Given the description of an element on the screen output the (x, y) to click on. 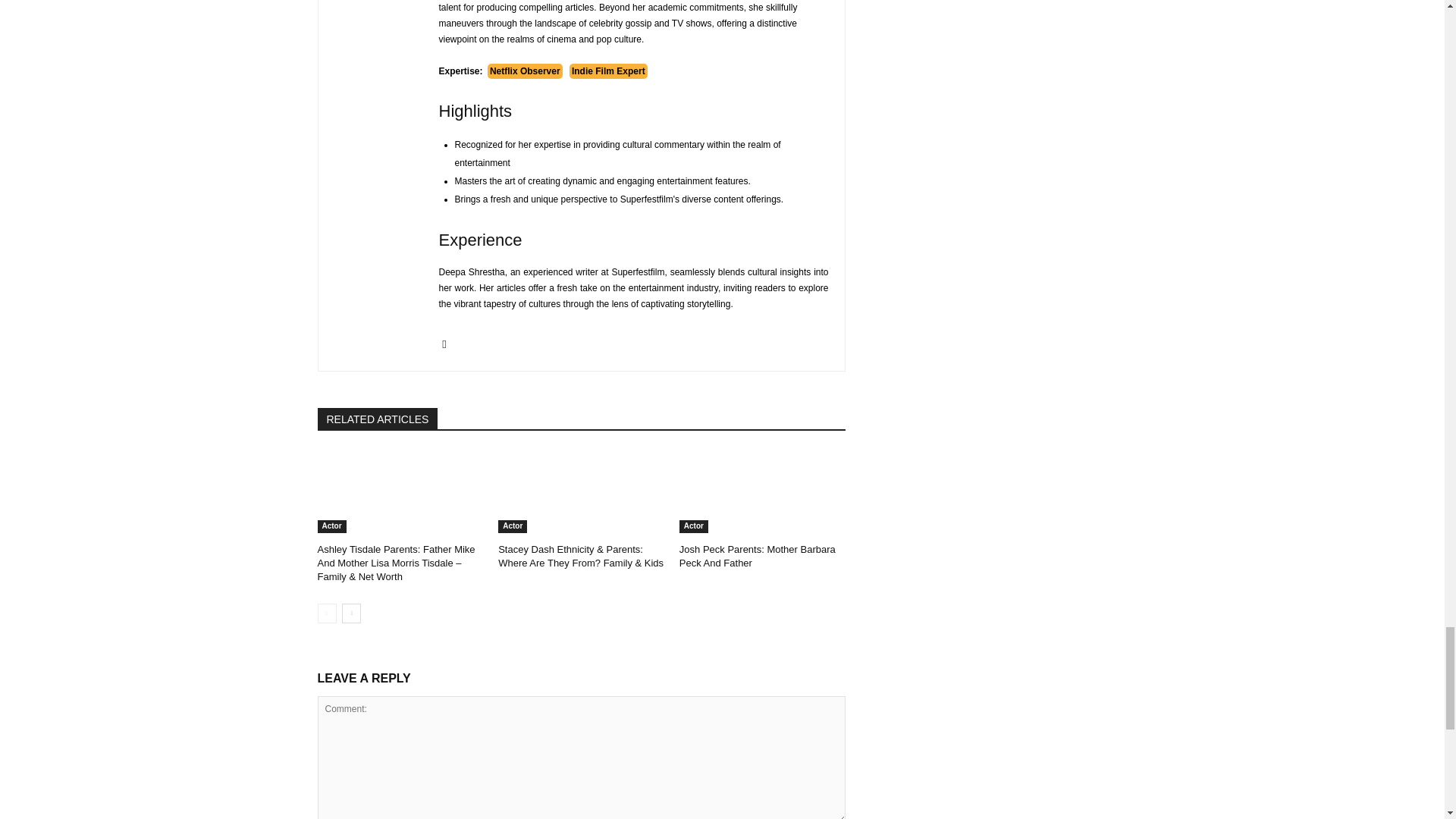
Facebook (443, 341)
